Given the description of an element on the screen output the (x, y) to click on. 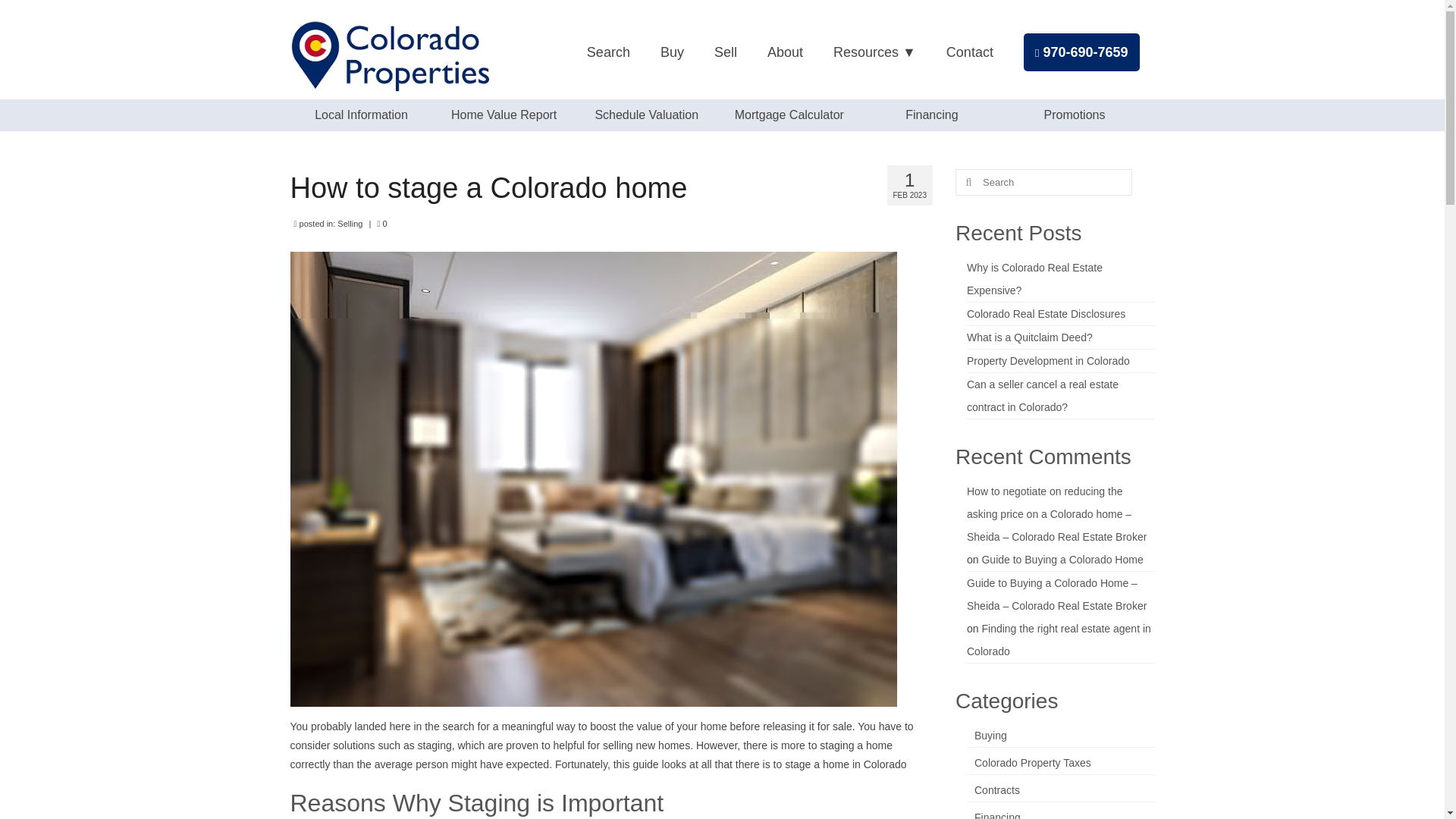
Buy (671, 51)
Schedule Valuation (646, 115)
Search (608, 51)
Sell (725, 51)
Mortgage Calculator (788, 115)
Financing (931, 115)
Promotions (1074, 115)
Contact (970, 51)
970-690-7659 (1081, 51)
About (785, 51)
